Given the description of an element on the screen output the (x, y) to click on. 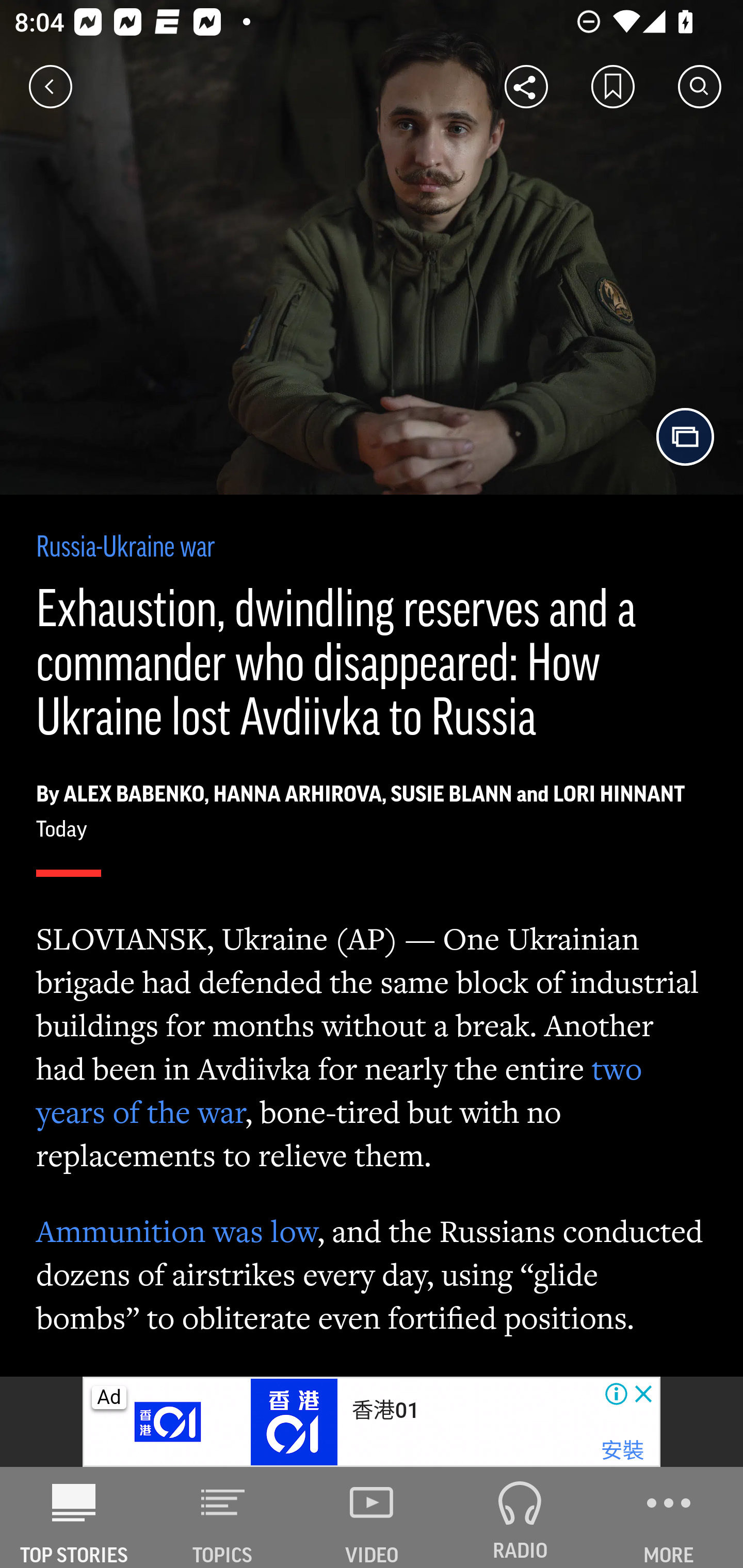
Russia-Ukraine war (126, 548)
two years of the war (339, 1090)
Ammunition was low (177, 1230)
B30001746 (168, 1421)
香港01 (384, 1410)
安裝 (621, 1450)
AP News TOP STORIES (74, 1517)
TOPICS (222, 1517)
VIDEO (371, 1517)
RADIO (519, 1517)
MORE (668, 1517)
